Given the description of an element on the screen output the (x, y) to click on. 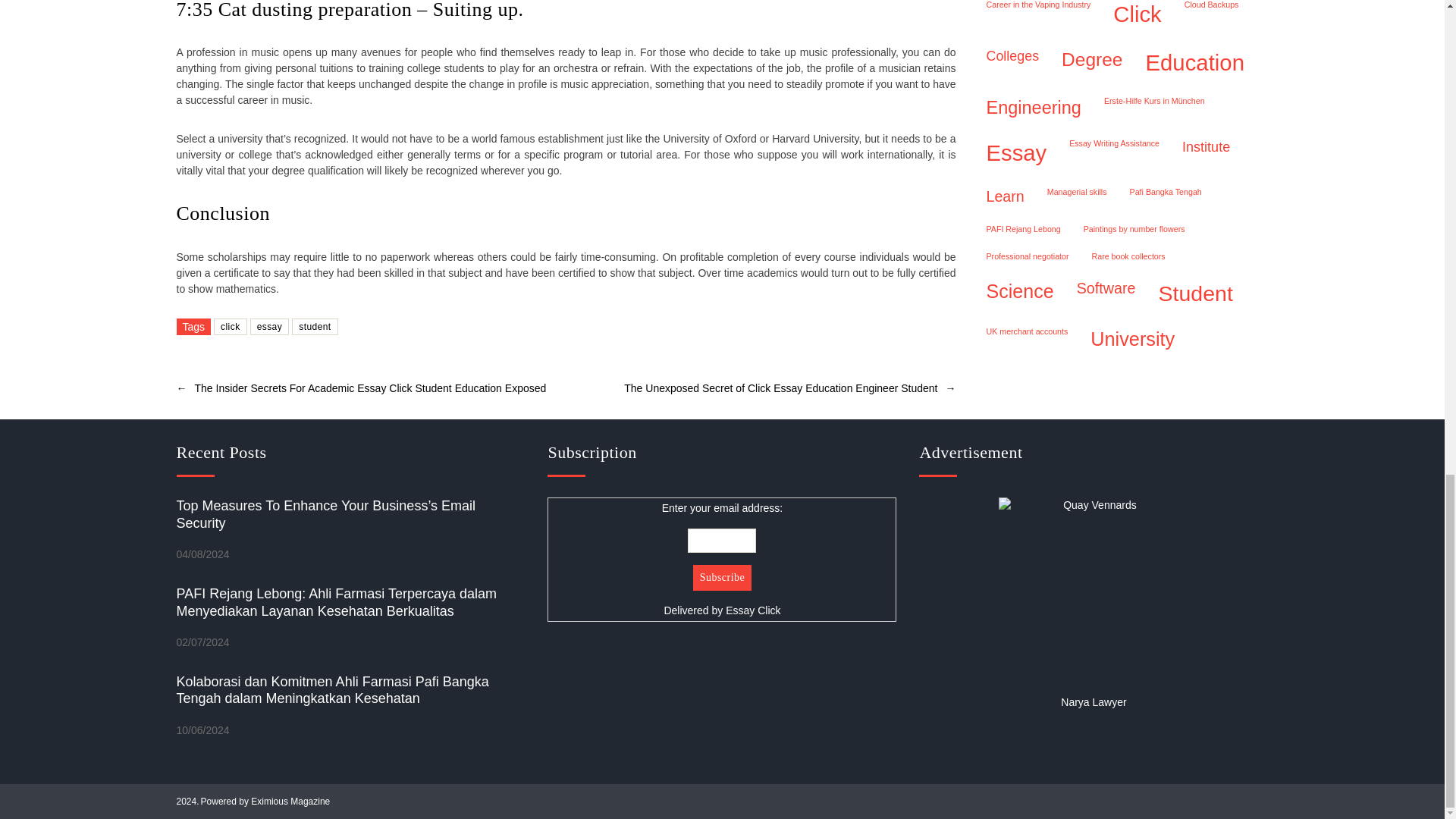
Quay Vennards (1093, 592)
essay (269, 326)
click (230, 326)
Subscribe (722, 577)
student (314, 326)
